Given the description of an element on the screen output the (x, y) to click on. 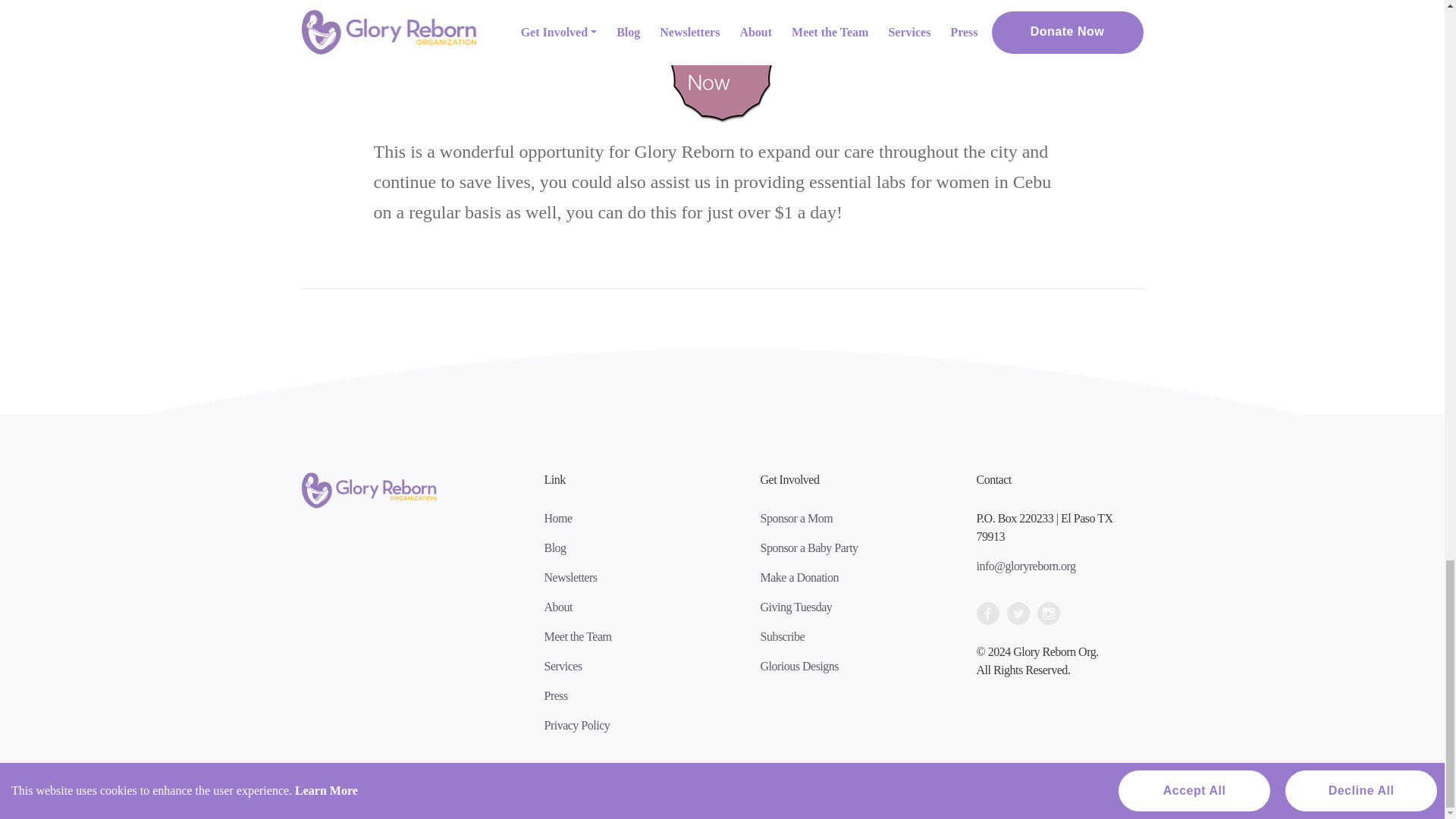
Privacy Policy (577, 725)
Sponsor a Baby Party (808, 547)
Giving Tuesday (795, 606)
Newsletters (570, 576)
Sponsor a Mom (796, 517)
Make a Donation (799, 576)
Glorious Designs (799, 666)
Subscribe (782, 635)
About (558, 606)
Press (555, 695)
Meet the Team (577, 635)
Services (563, 666)
Home (558, 517)
Blog (555, 547)
